Given the description of an element on the screen output the (x, y) to click on. 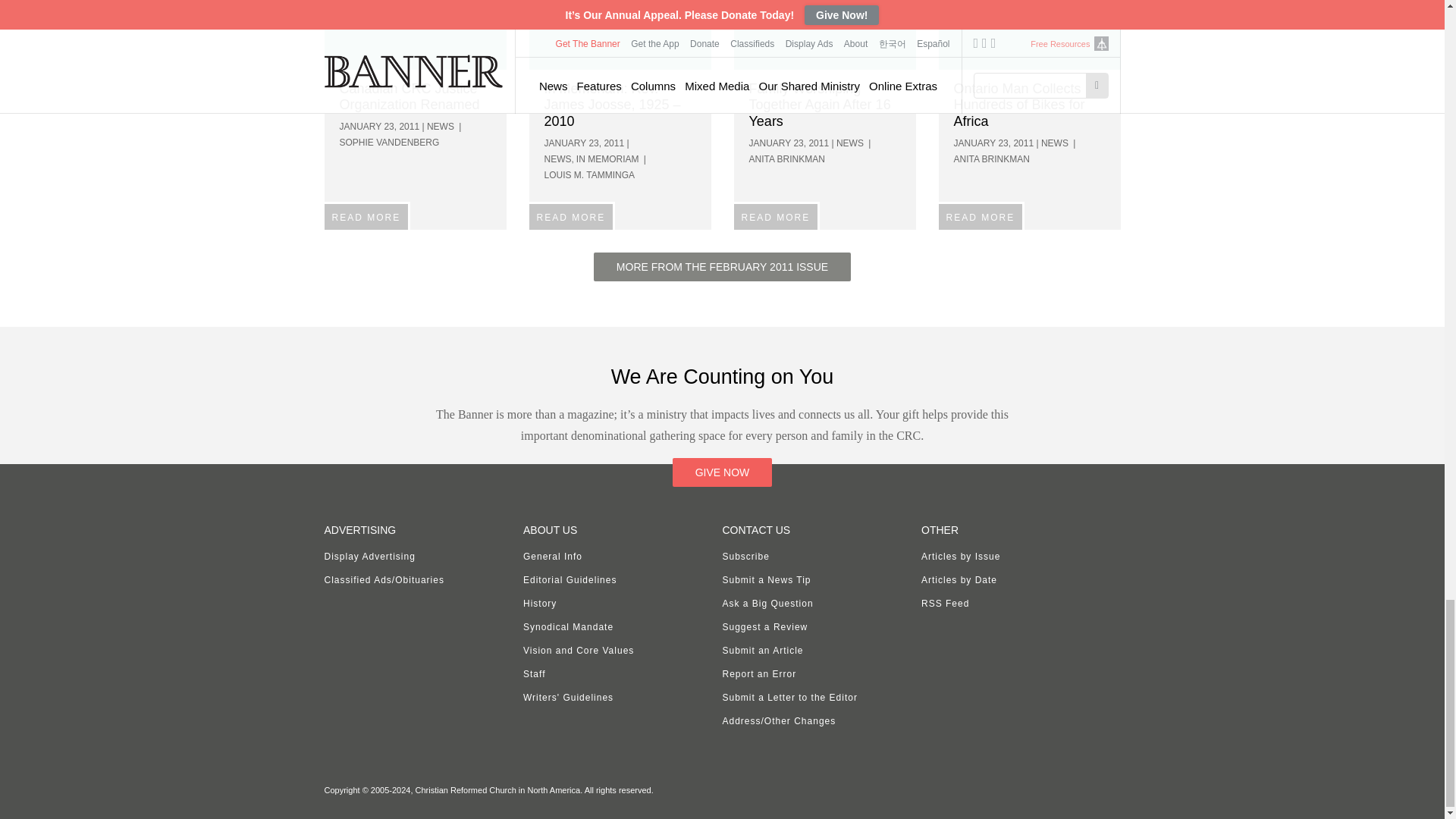
News (1030, 34)
News (824, 34)
News (415, 34)
News (620, 34)
